Given the description of an element on the screen output the (x, y) to click on. 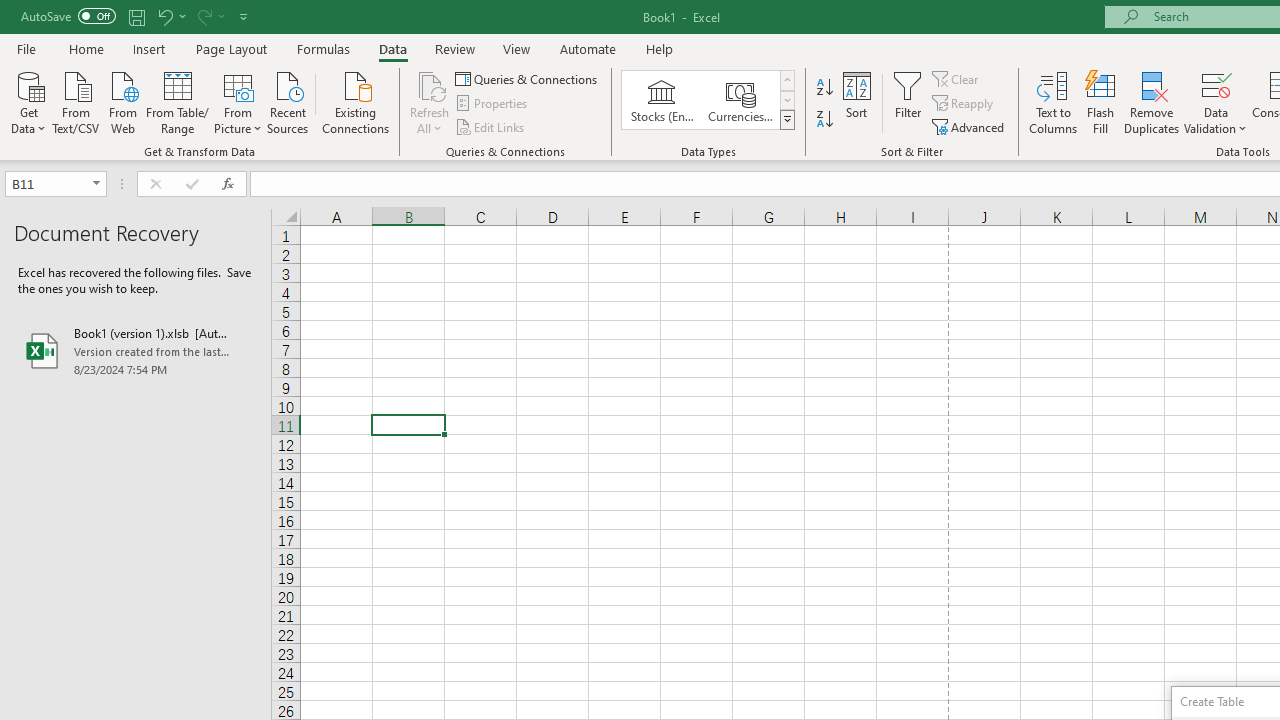
File Tab (26, 48)
Undo (170, 15)
Edit Links (491, 126)
Book1 (version 1).xlsb  [AutoRecovered] (136, 350)
View (517, 48)
Customize Quick Access Toolbar (244, 15)
Filter (908, 102)
Formulas (323, 48)
Existing Connections (355, 101)
Data Validation... (1215, 84)
Queries & Connections (527, 78)
System (10, 11)
Insert (149, 48)
From Table/Range (177, 101)
Text to Columns... (1053, 102)
